Given the description of an element on the screen output the (x, y) to click on. 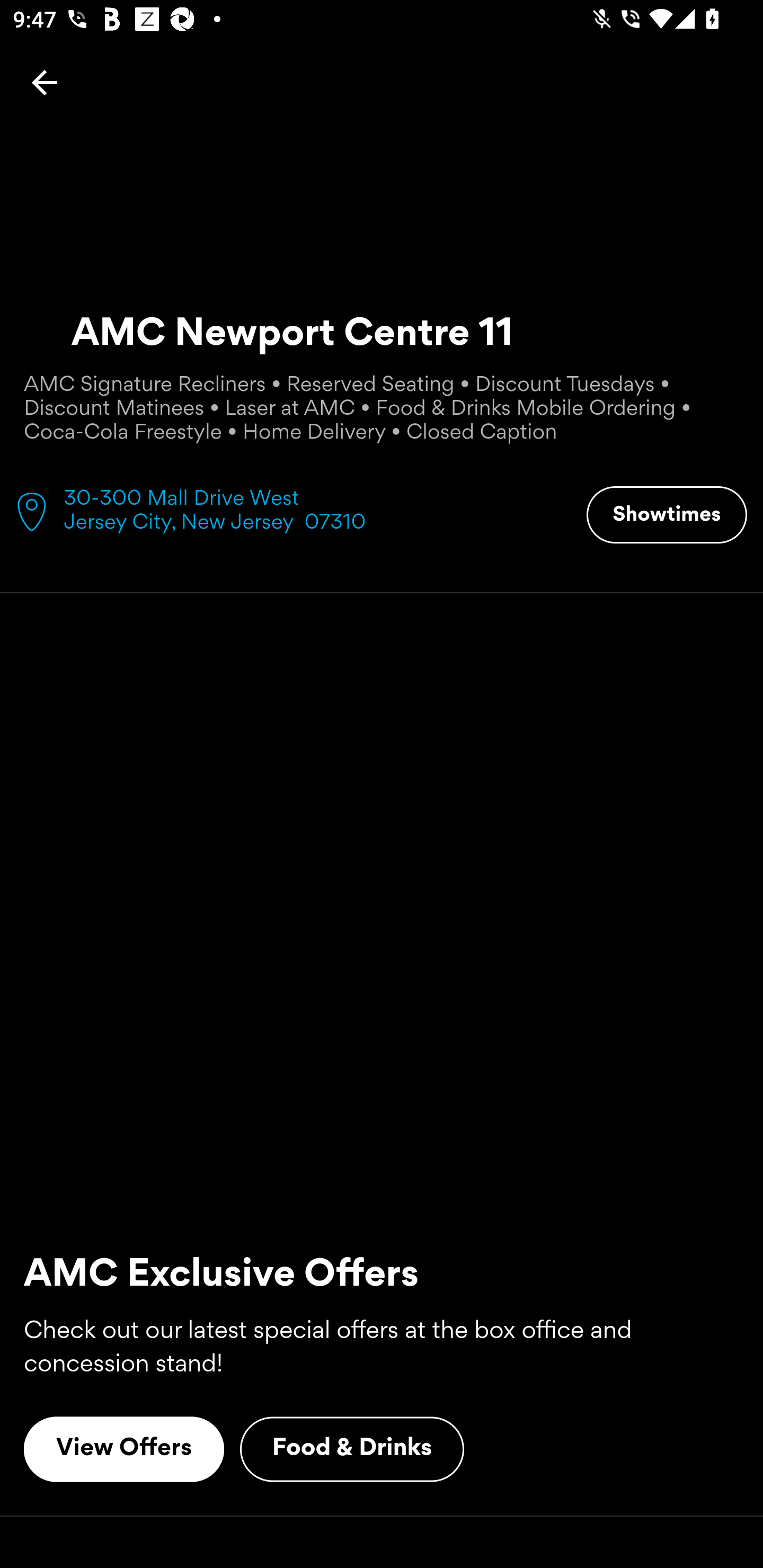
Back (44, 82)
